Given the description of an element on the screen output the (x, y) to click on. 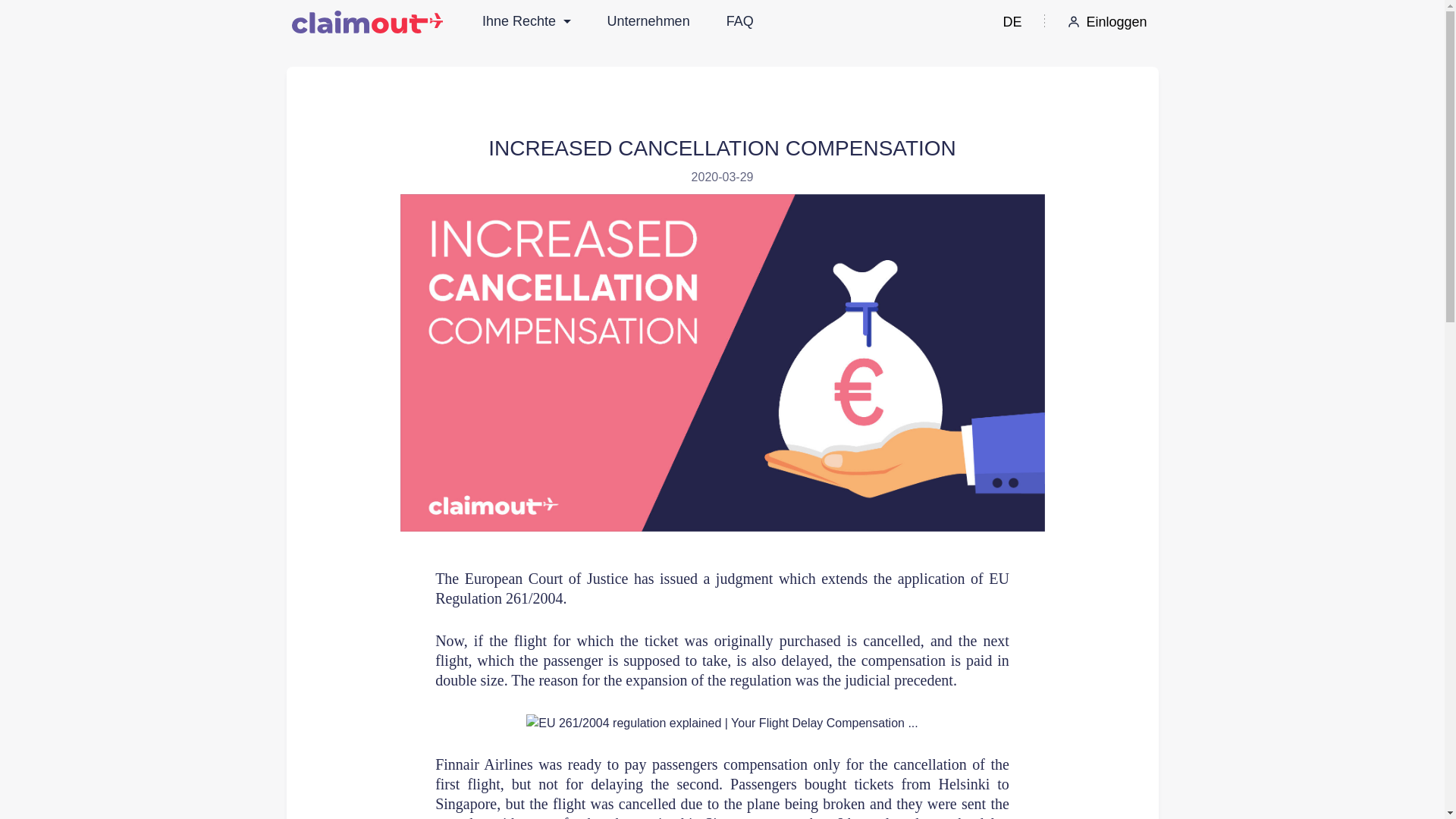
DE (1011, 21)
Einloggen (1106, 21)
Ihne Rechte (526, 20)
Unternehmen (648, 20)
FAQ (740, 20)
